Given the description of an element on the screen output the (x, y) to click on. 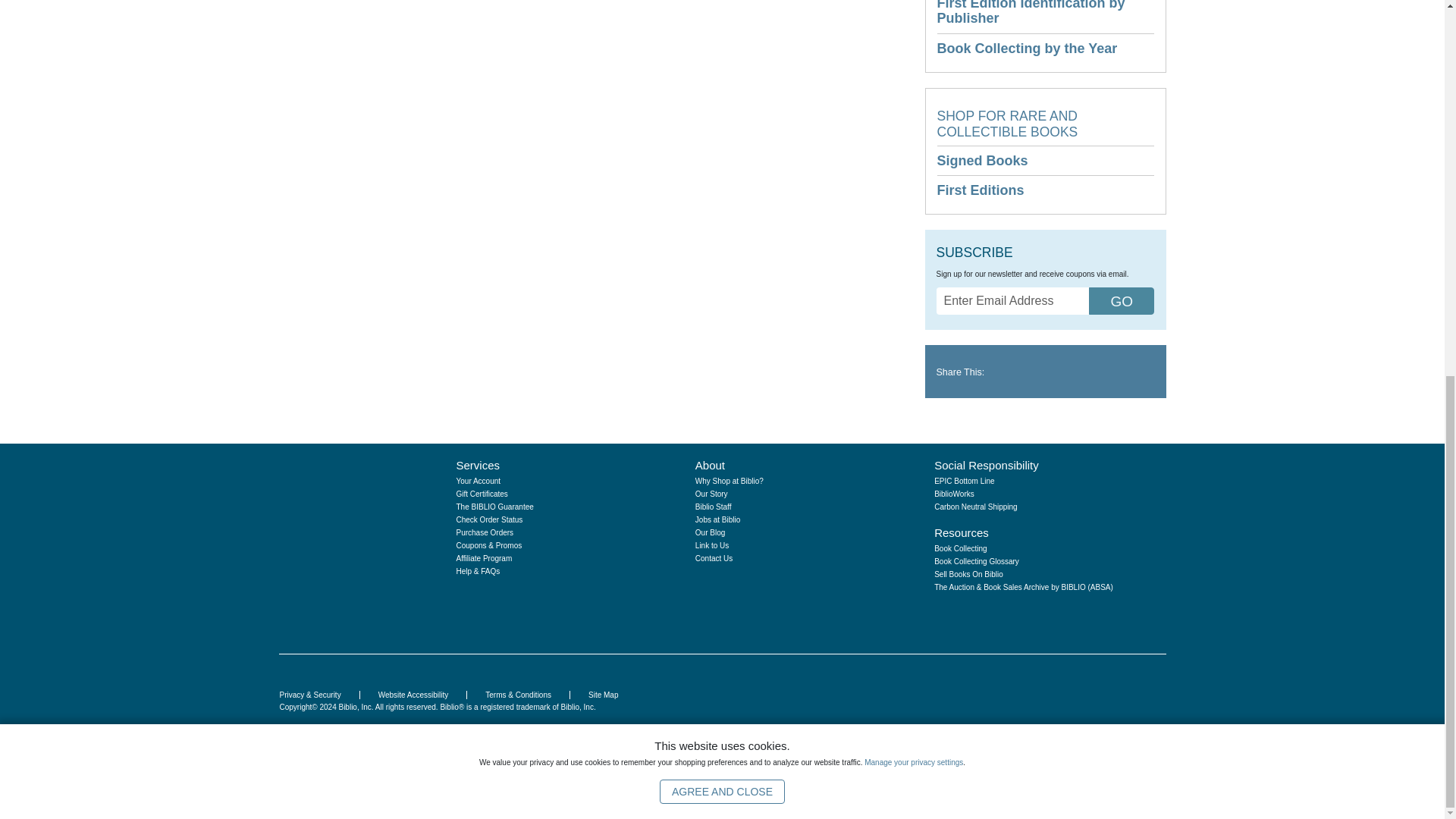
Click for the Better Business Bureau review of Biblio, Inc. (1118, 716)
Share this on Twitter (1014, 372)
Manage your privacy settings (913, 70)
Share on Tumblr (1036, 372)
Visit our Twitter page (981, 613)
AGREE AND CLOSE (721, 98)
Visit our Instagram page (957, 613)
